Given the description of an element on the screen output the (x, y) to click on. 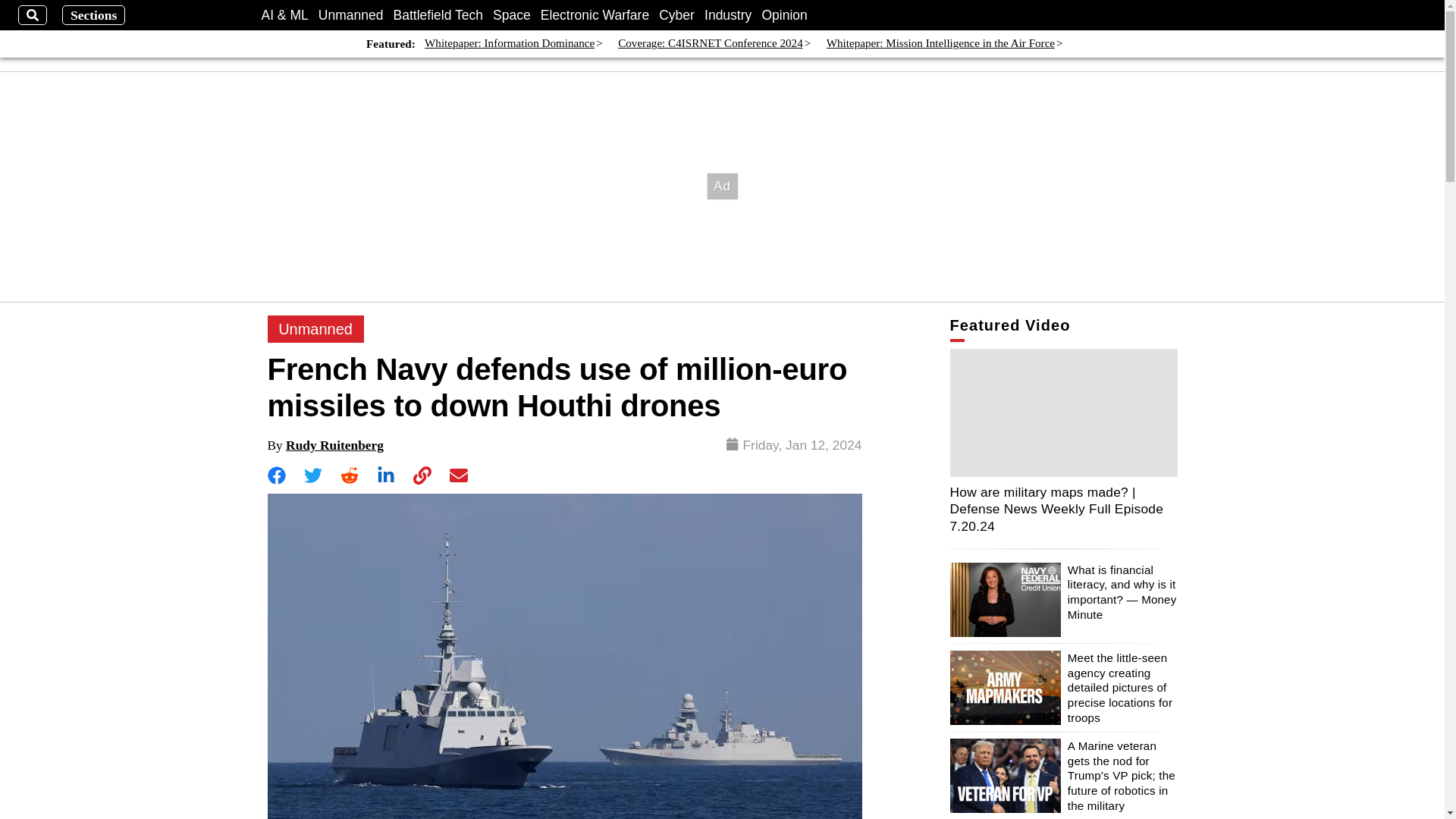
Opinion (783, 14)
Whitepaper: Mission Intelligence in the Air Force (940, 43)
Coverage: C4ISRNET Conference 2024 (710, 43)
Electronic Warfare (594, 14)
Unmanned (315, 329)
Space (512, 14)
Industry (727, 14)
Unmanned (351, 14)
Cyber (676, 14)
Sections (93, 14)
Whitepaper: Information Dominance (509, 43)
Battlefield Tech (438, 14)
